Given the description of an element on the screen output the (x, y) to click on. 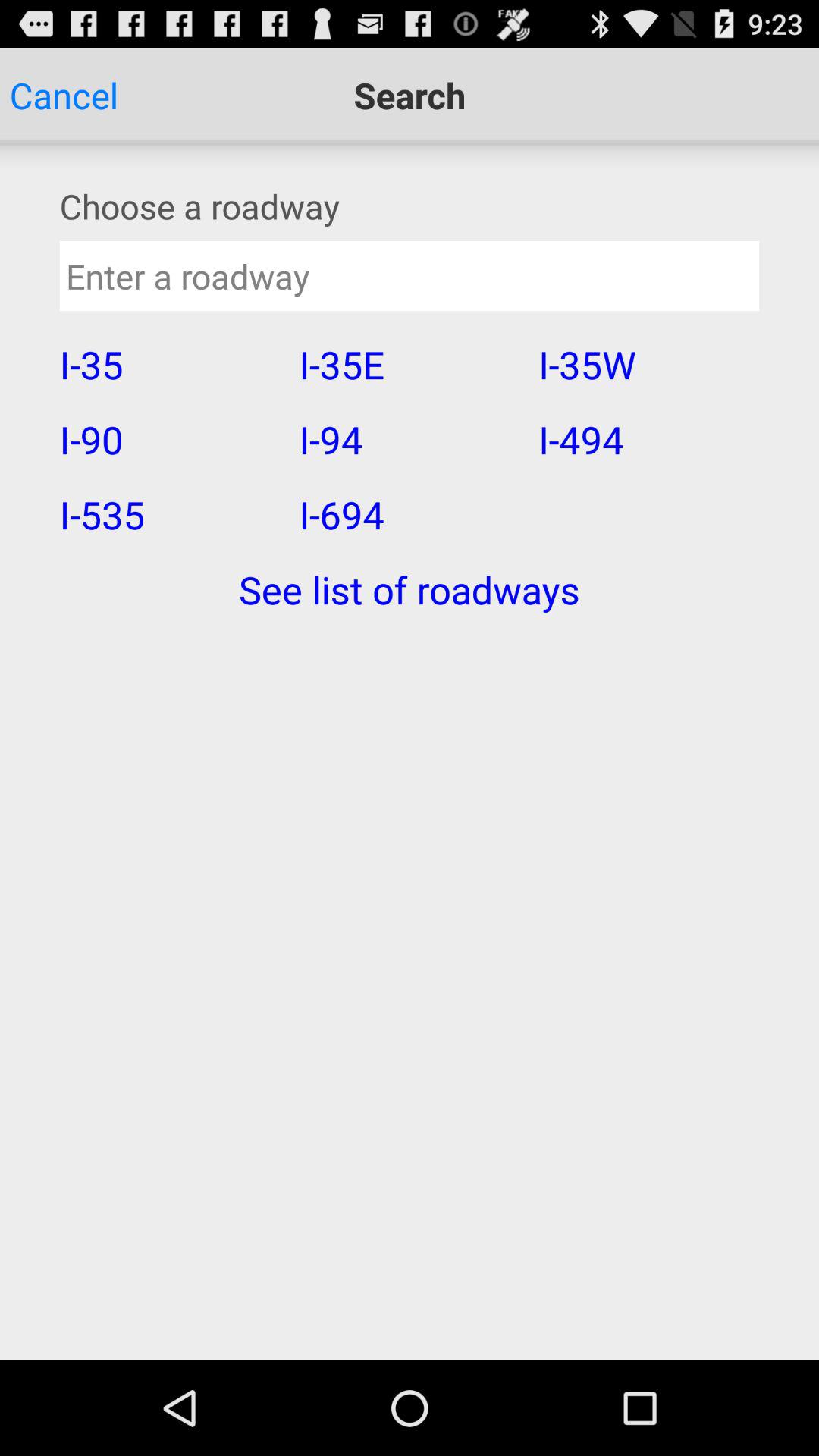
click the app to the left of i-35e icon (169, 364)
